Given the description of an element on the screen output the (x, y) to click on. 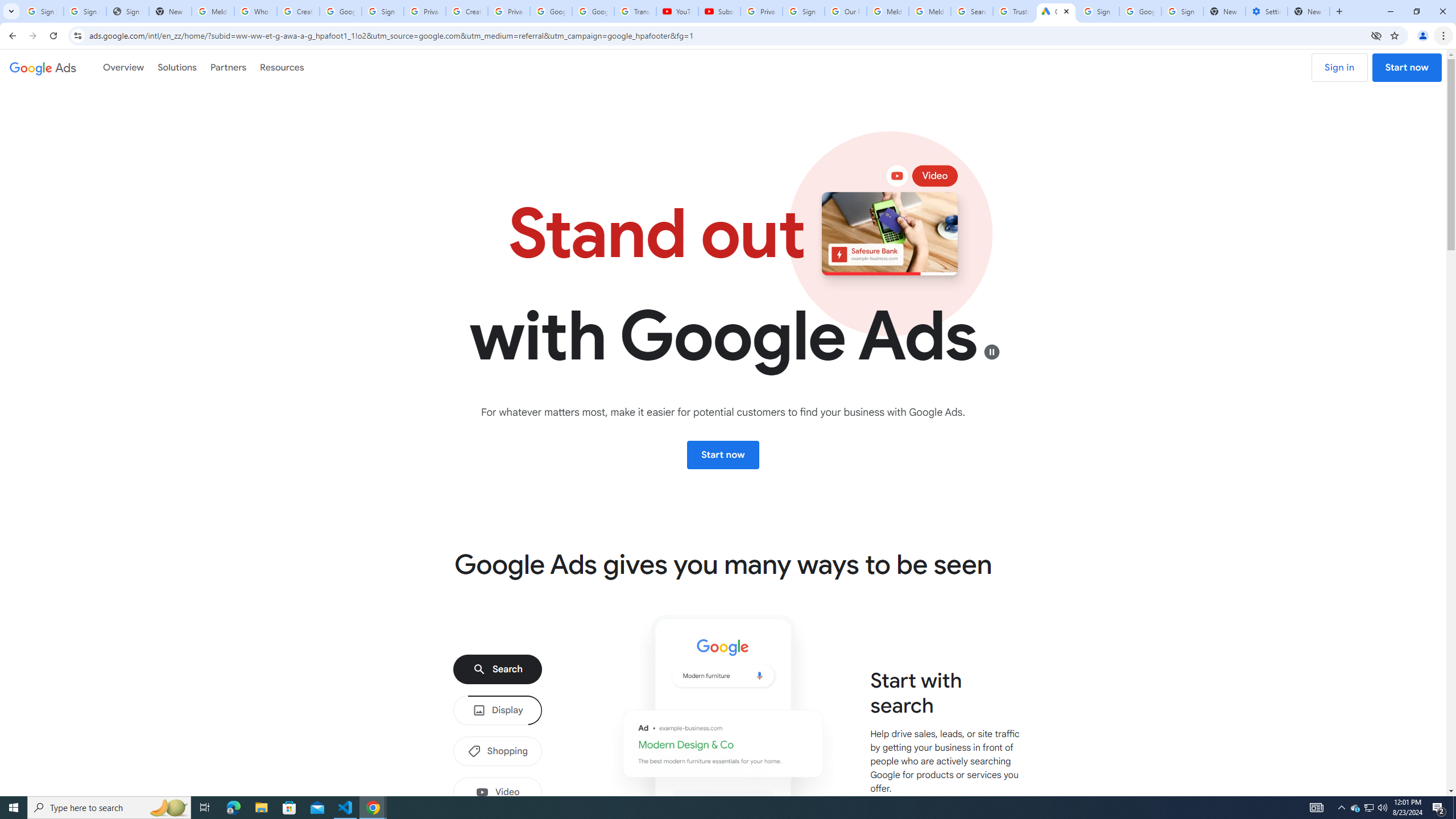
Search - Selected, more information after list (497, 668)
Sign in - Google Accounts (1182, 11)
